Given the description of an element on the screen output the (x, y) to click on. 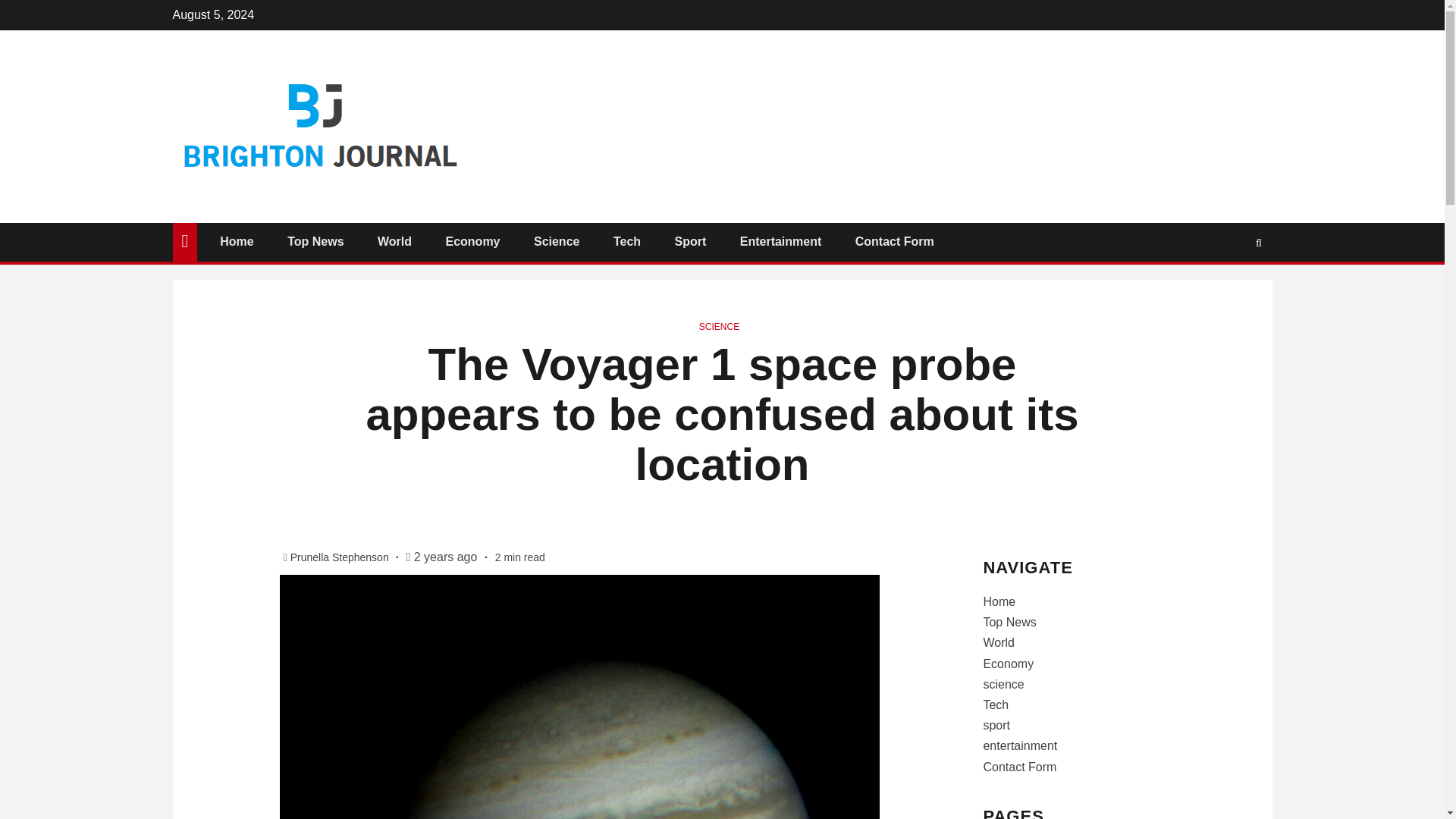
Economy (472, 241)
Top News (314, 241)
World (394, 241)
Search (1229, 287)
SCIENCE (718, 326)
Search (1258, 241)
Science (556, 241)
Entertainment (780, 241)
Home (236, 241)
Tech (626, 241)
Contact Form (895, 241)
Sport (690, 241)
Prunella Stephenson (340, 557)
